Given the description of an element on the screen output the (x, y) to click on. 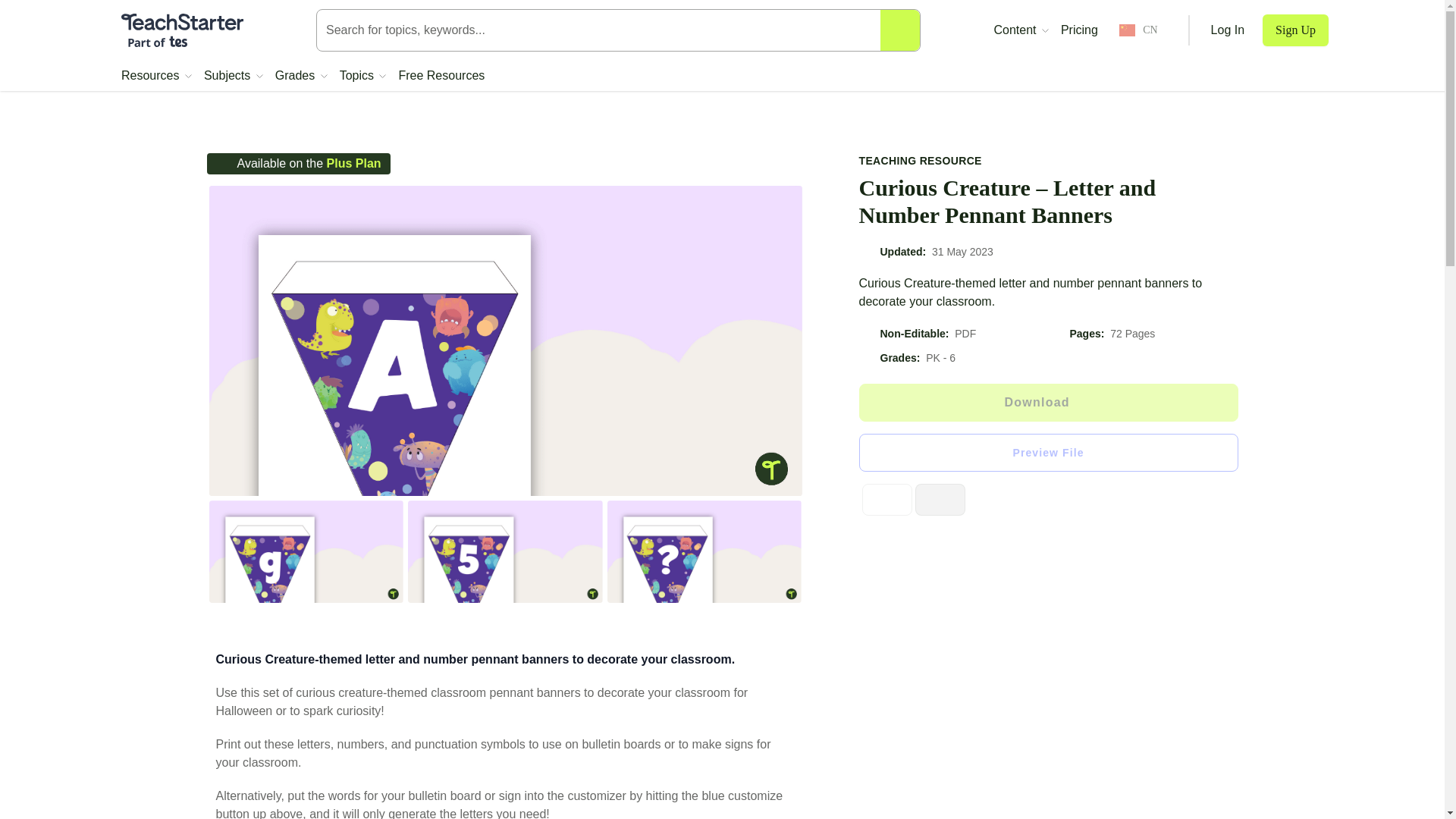
Blog, podcast, and webinars (1020, 30)
Change location (1138, 30)
Resources (156, 75)
Create a Teach Starter account (1294, 29)
Subjects  (233, 75)
Sign Up (1294, 29)
CN (1138, 30)
Content  (1020, 30)
Resources  (156, 75)
Back to homepage (181, 29)
Pricing (1079, 30)
Log In (1227, 30)
Teach Starter, part of Tes (181, 29)
Log in to your account (1227, 30)
Grades  (301, 75)
